Given the description of an element on the screen output the (x, y) to click on. 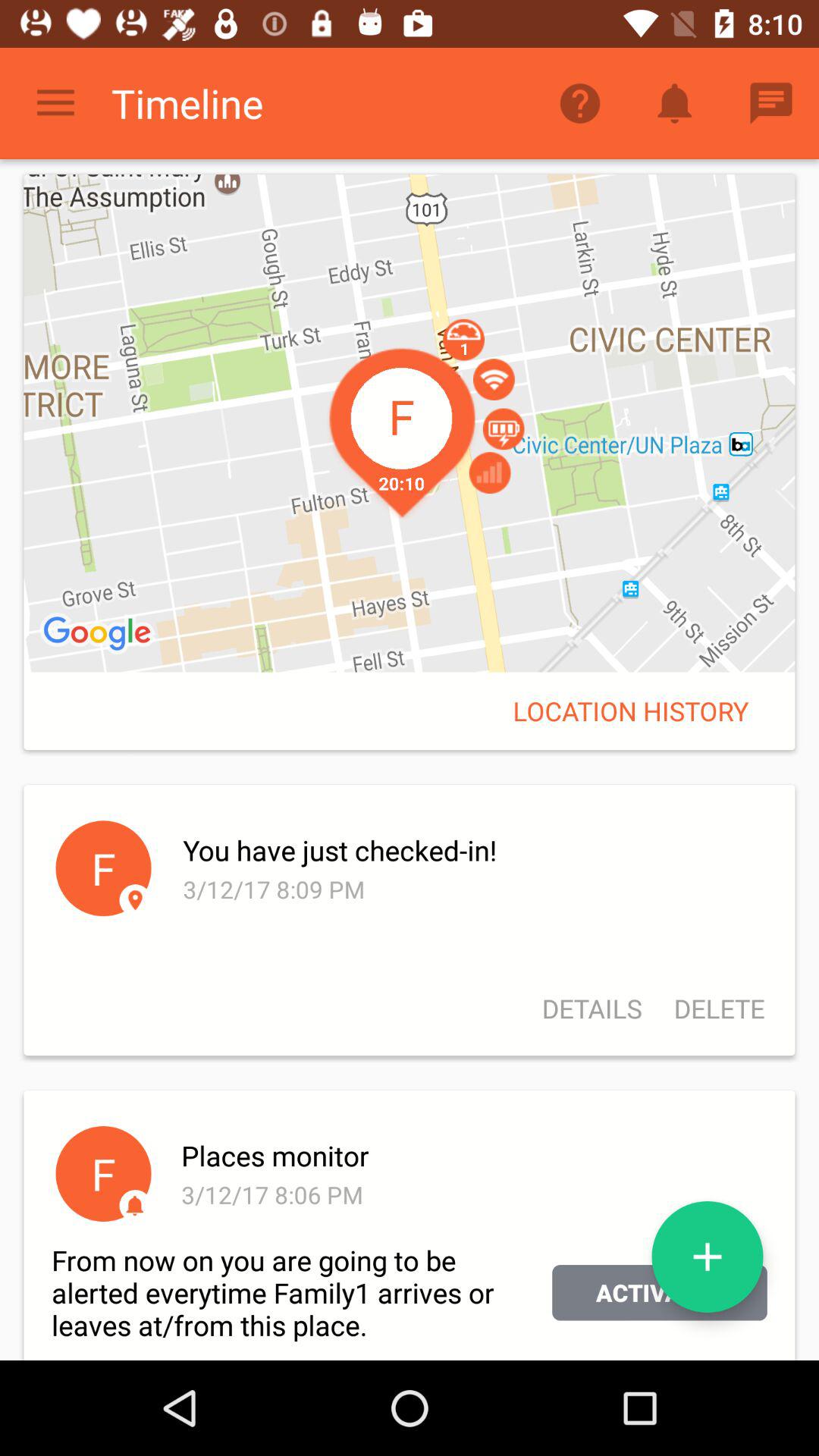
swipe until the places monitor (472, 1155)
